Given the description of an element on the screen output the (x, y) to click on. 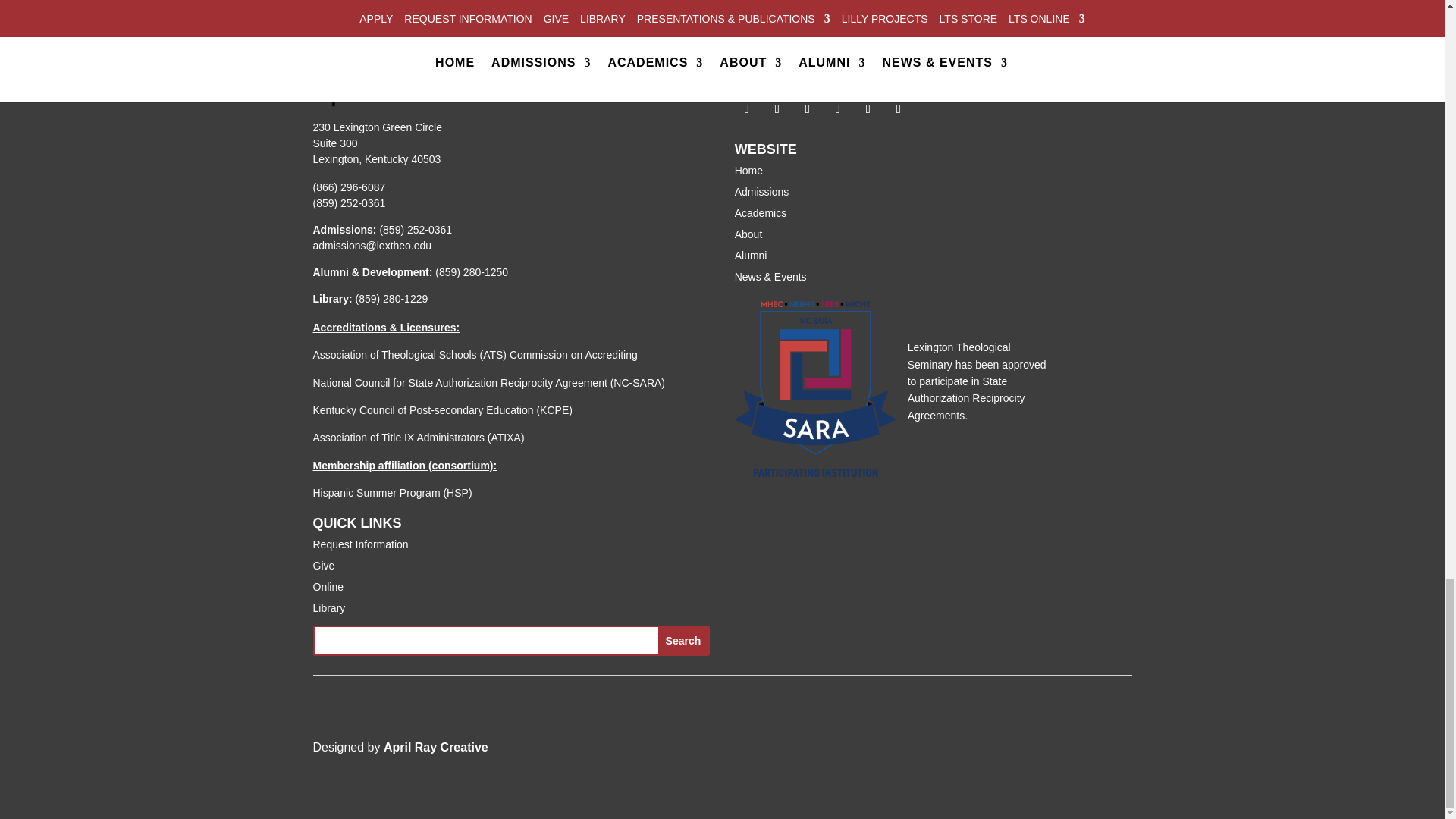
Follow on LinkedIn (837, 109)
Search (683, 640)
Search (683, 640)
Follow on Instagram (898, 109)
Follow on Facebook (746, 109)
Follow on Twitter (777, 109)
Follow on Flickr (868, 109)
Follow on Youtube (806, 109)
